Given the description of an element on the screen output the (x, y) to click on. 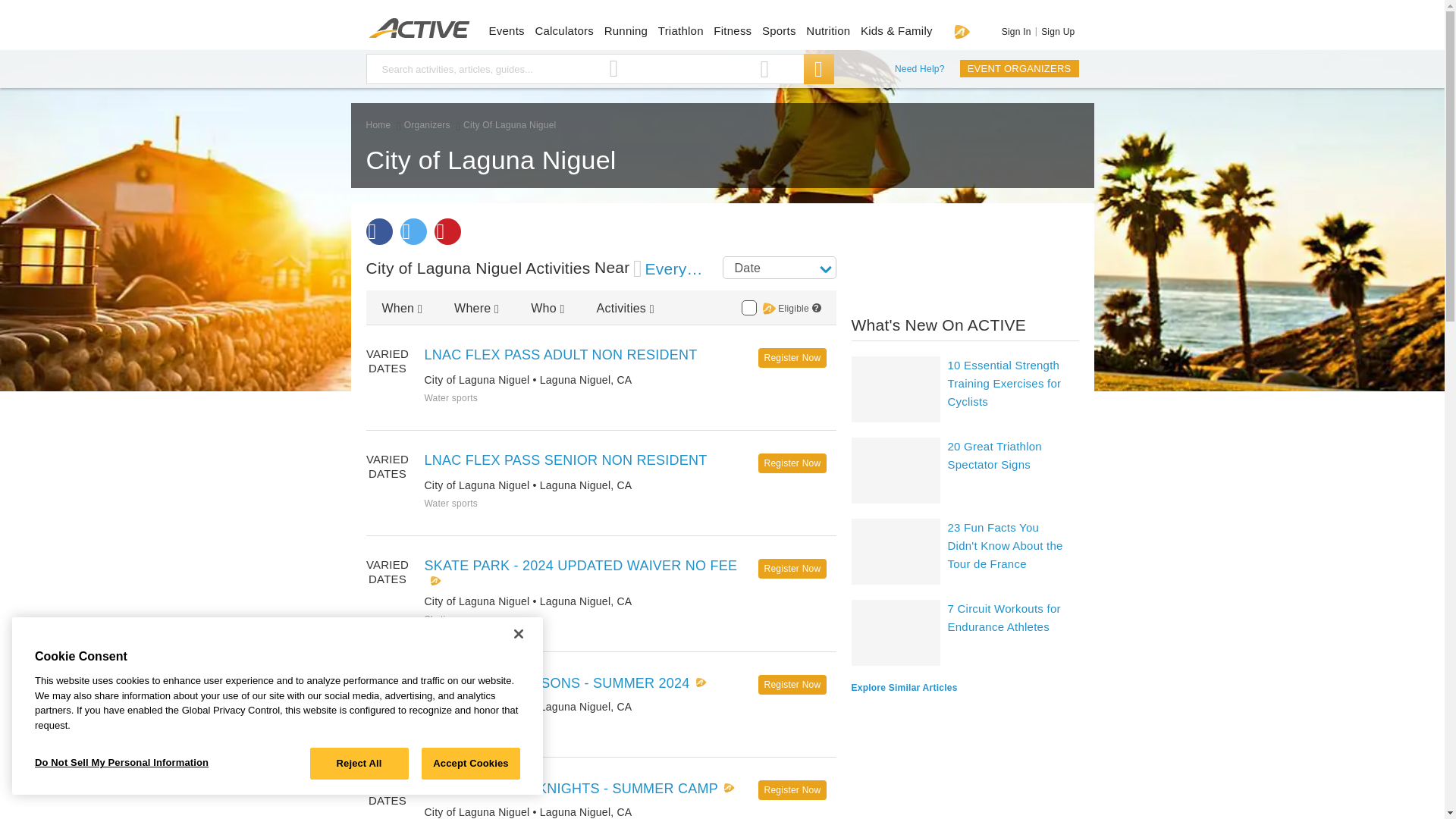
Share on Facebook (378, 231)
Share on Pinterest (446, 231)
Share on Twitter (413, 231)
Go Premium (961, 31)
